Given the description of an element on the screen output the (x, y) to click on. 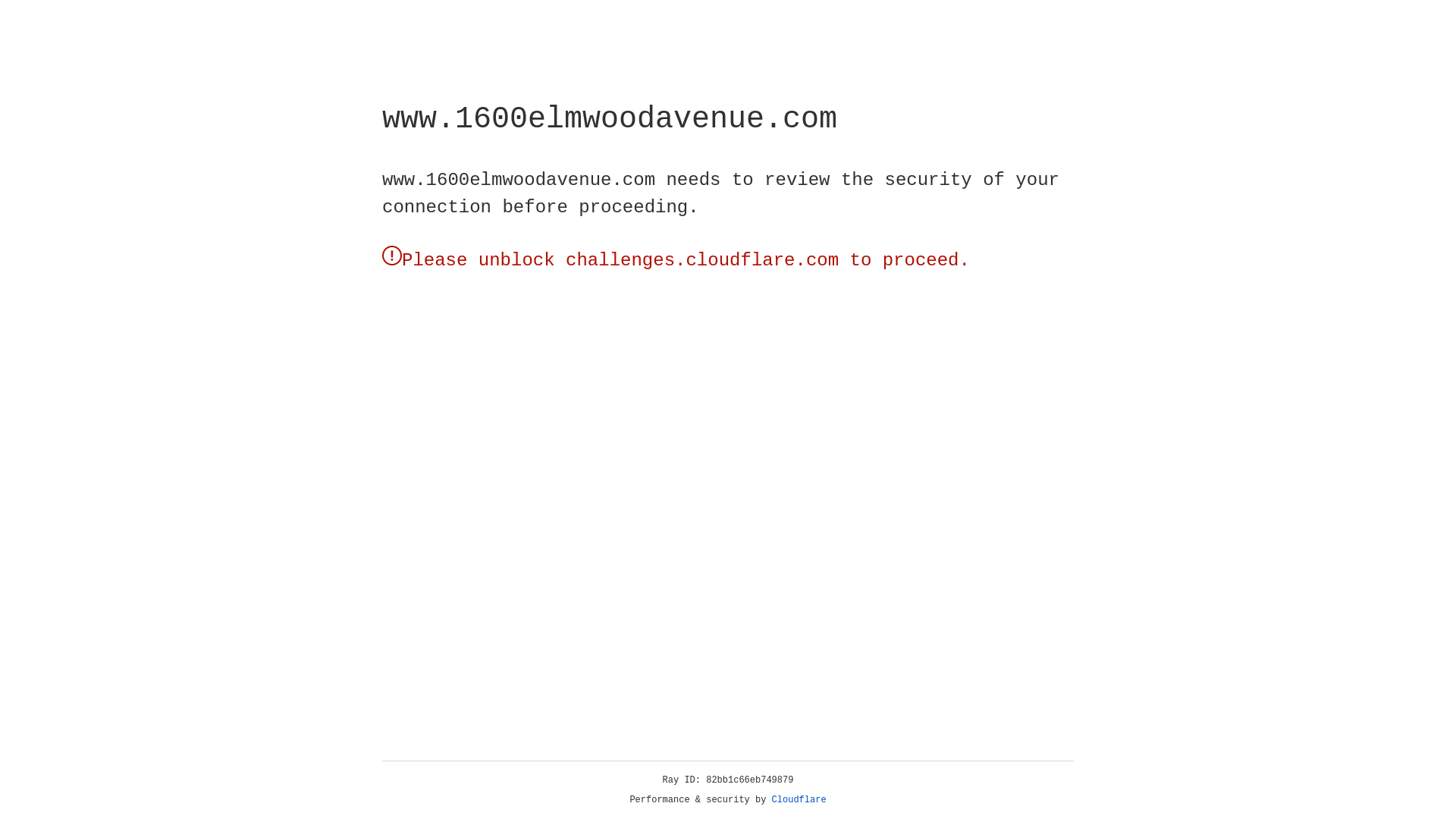
Cloudflare Element type: text (798, 799)
